Given the description of an element on the screen output the (x, y) to click on. 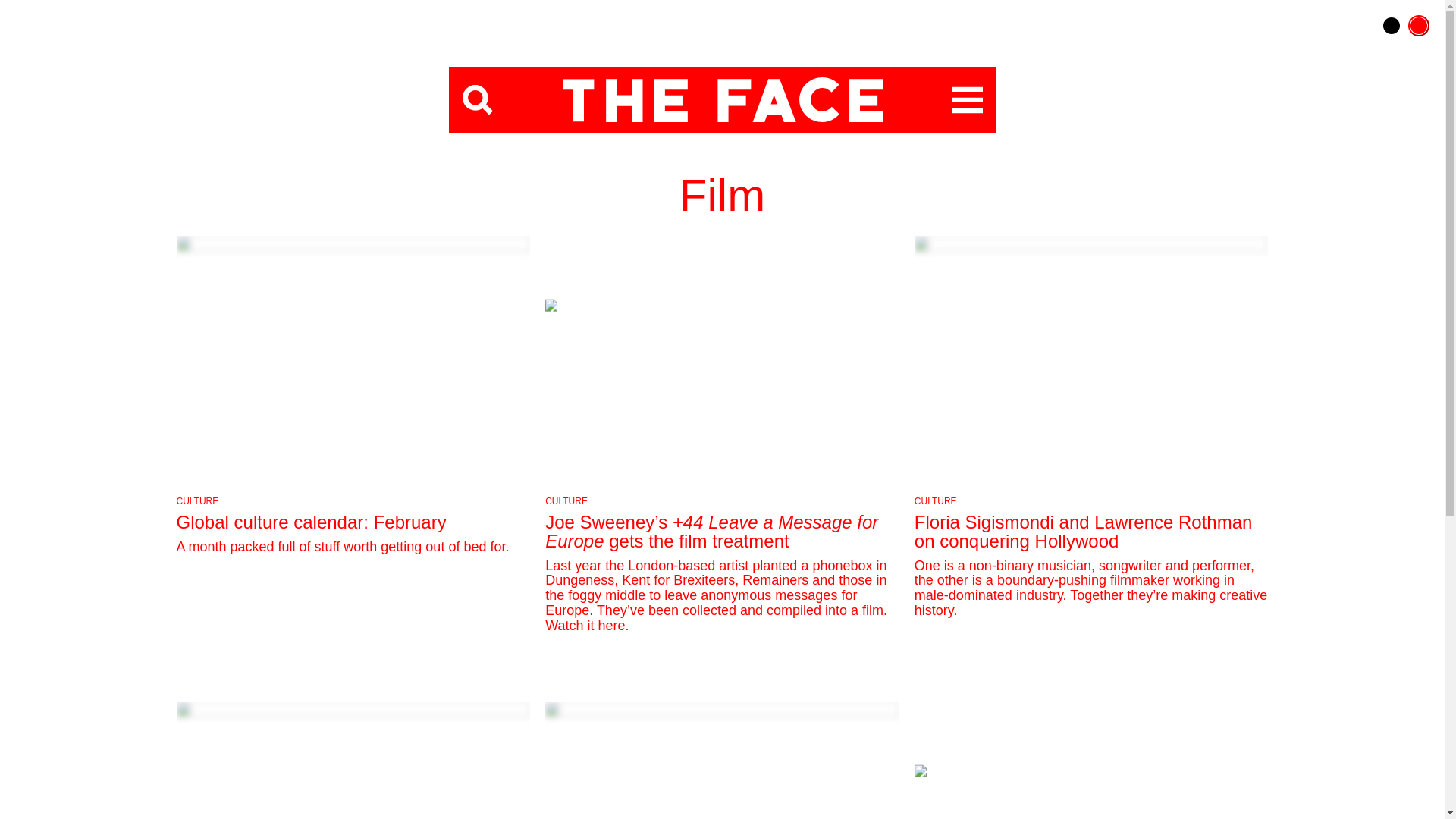
CULTURE (566, 501)
Reveal menu (967, 100)
Makoto Shinkai releases his new anime blockbuster (352, 760)
CULTURE (935, 501)
Taylor Russell: the indie-film breakout for 2020 (1091, 760)
Reveal search bar (478, 100)
CULTURE (197, 501)
Global culture calendar: February (310, 521)
Global culture calendar: February (352, 361)
